Given the description of an element on the screen output the (x, y) to click on. 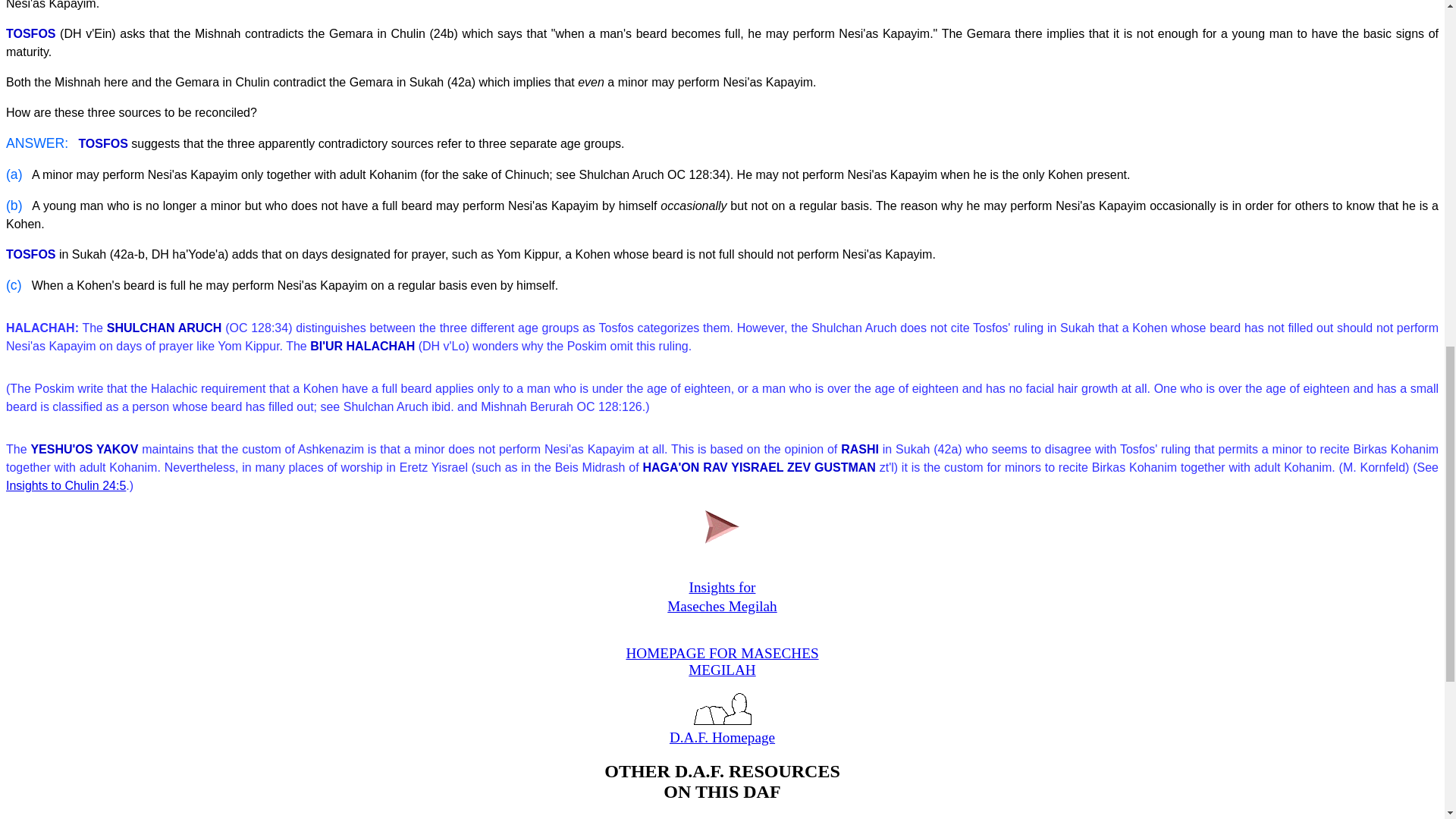
Insights to Chulin 24:5 (657, 818)
D.A.F. Homepage (65, 485)
